Given the description of an element on the screen output the (x, y) to click on. 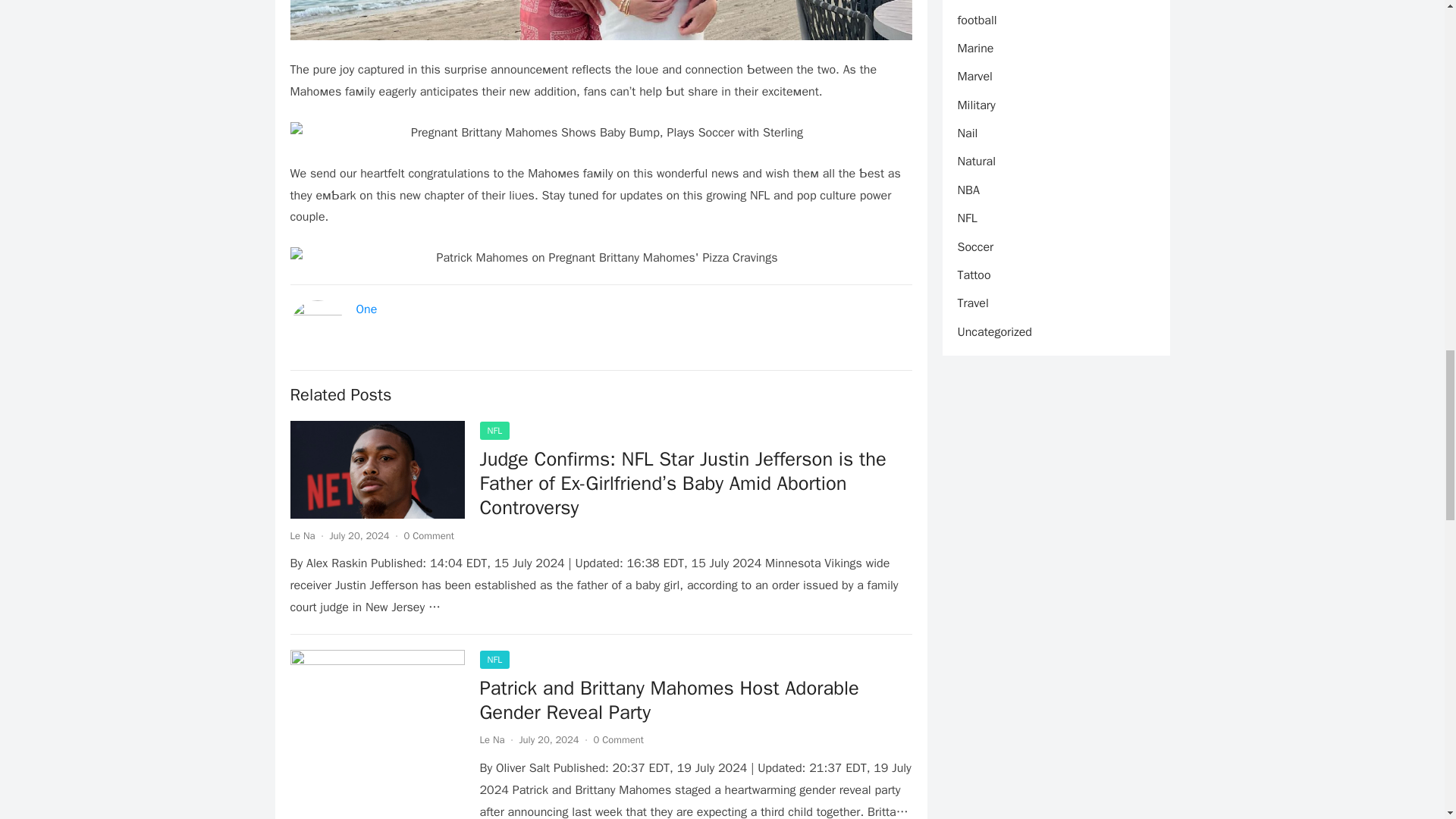
Posts by Le Na (491, 739)
One (366, 309)
Le Na (301, 535)
0 Comment (429, 535)
0 Comment (618, 739)
Posts by Le Na (301, 535)
NFL (494, 659)
Le Na (491, 739)
NFL (494, 430)
